Given the description of an element on the screen output the (x, y) to click on. 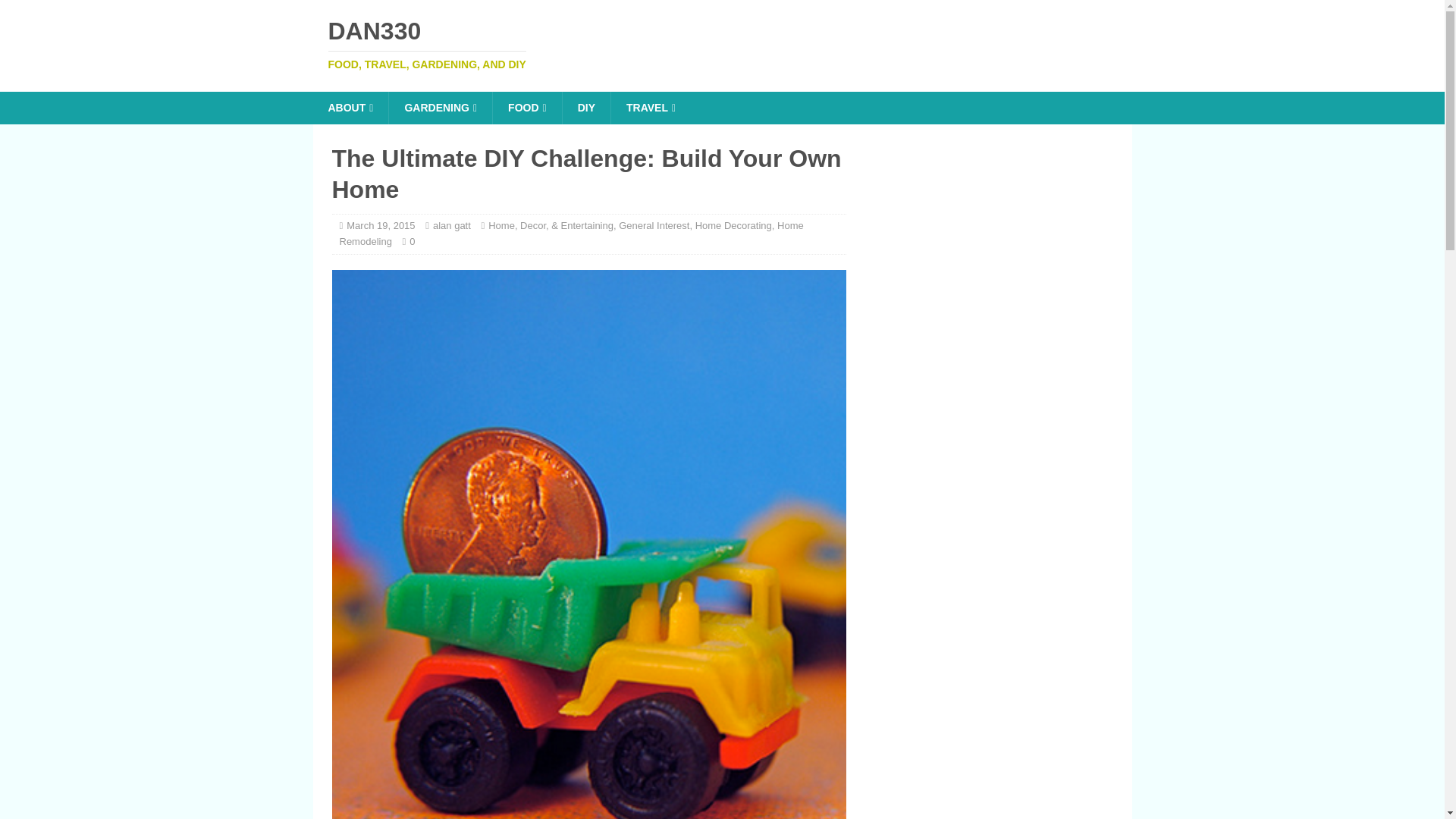
Home Remodeling (571, 233)
alan gatt (451, 225)
DIY (721, 44)
FOOD (586, 107)
TRAVEL (527, 107)
General Interest (650, 107)
ABOUT (653, 225)
March 19, 2015 (350, 107)
GARDENING (380, 225)
